Given the description of an element on the screen output the (x, y) to click on. 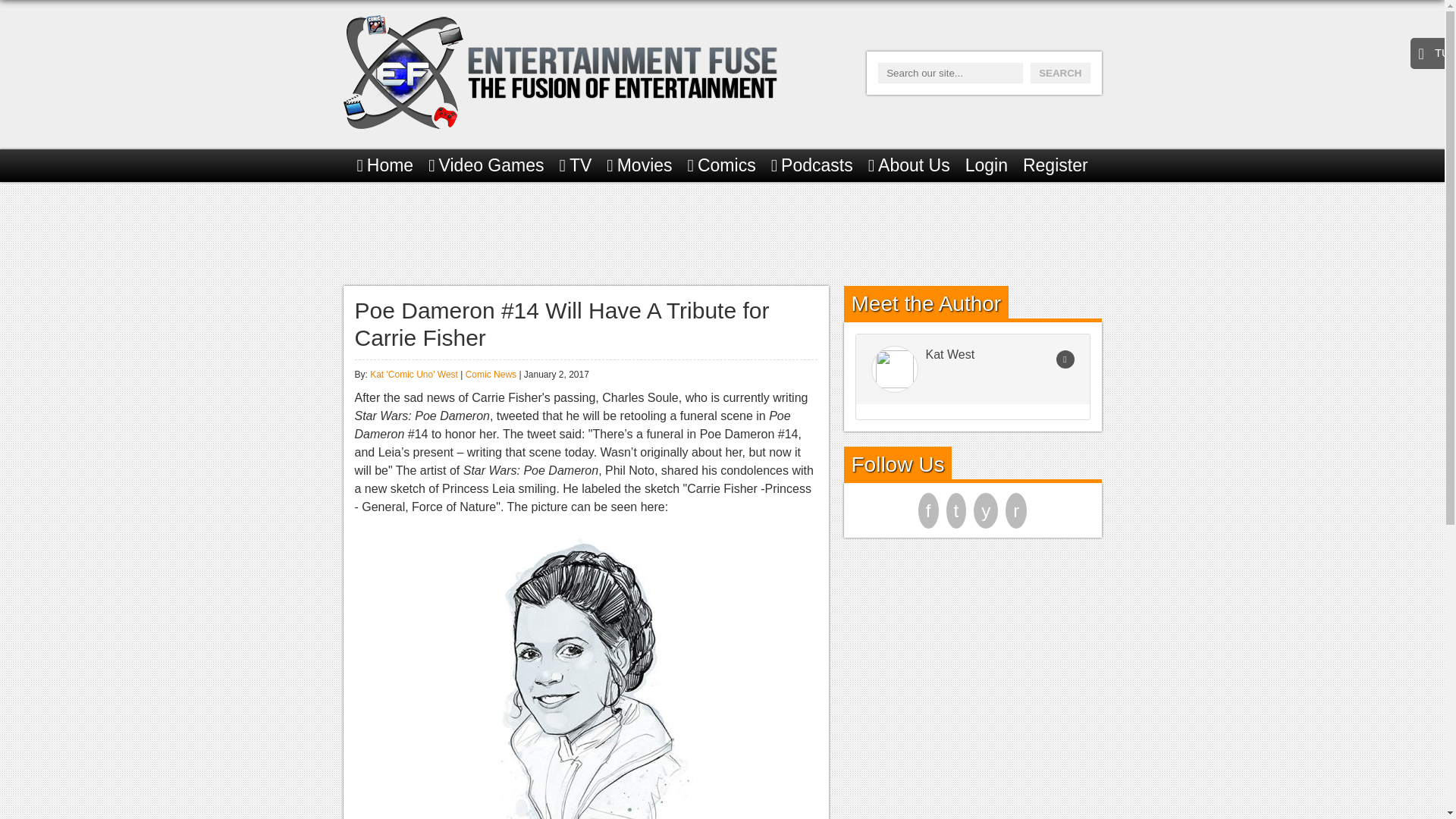
Posts by Kat 'Comic Uno' West (413, 374)
Movies (639, 165)
Comics (721, 165)
Video Games (485, 165)
Advertisement (721, 231)
Search (1059, 73)
TV (575, 165)
Home (384, 165)
Search (1059, 73)
